Given the description of an element on the screen output the (x, y) to click on. 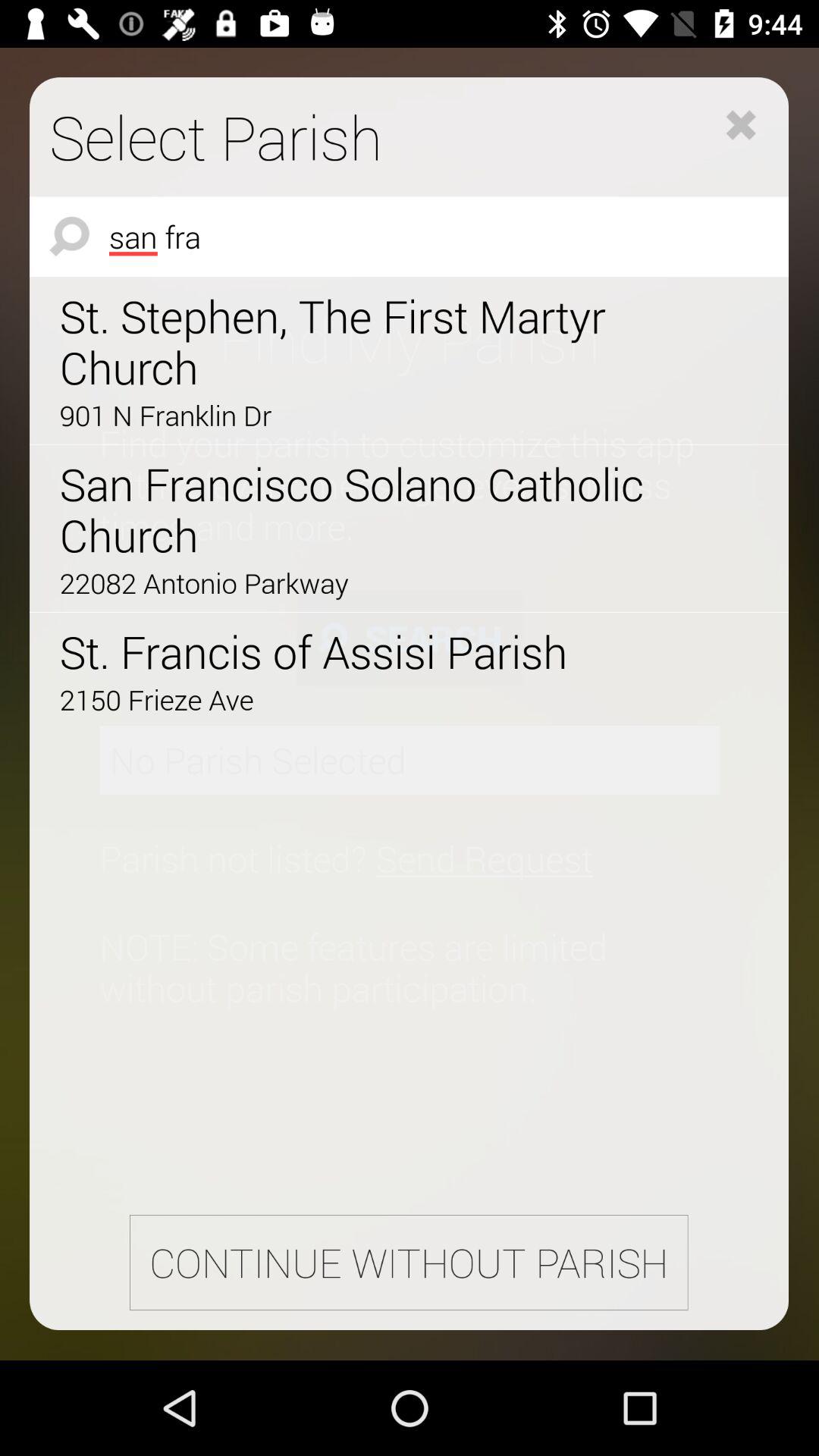
turn on the item above st francis of icon (366, 582)
